Given the description of an element on the screen output the (x, y) to click on. 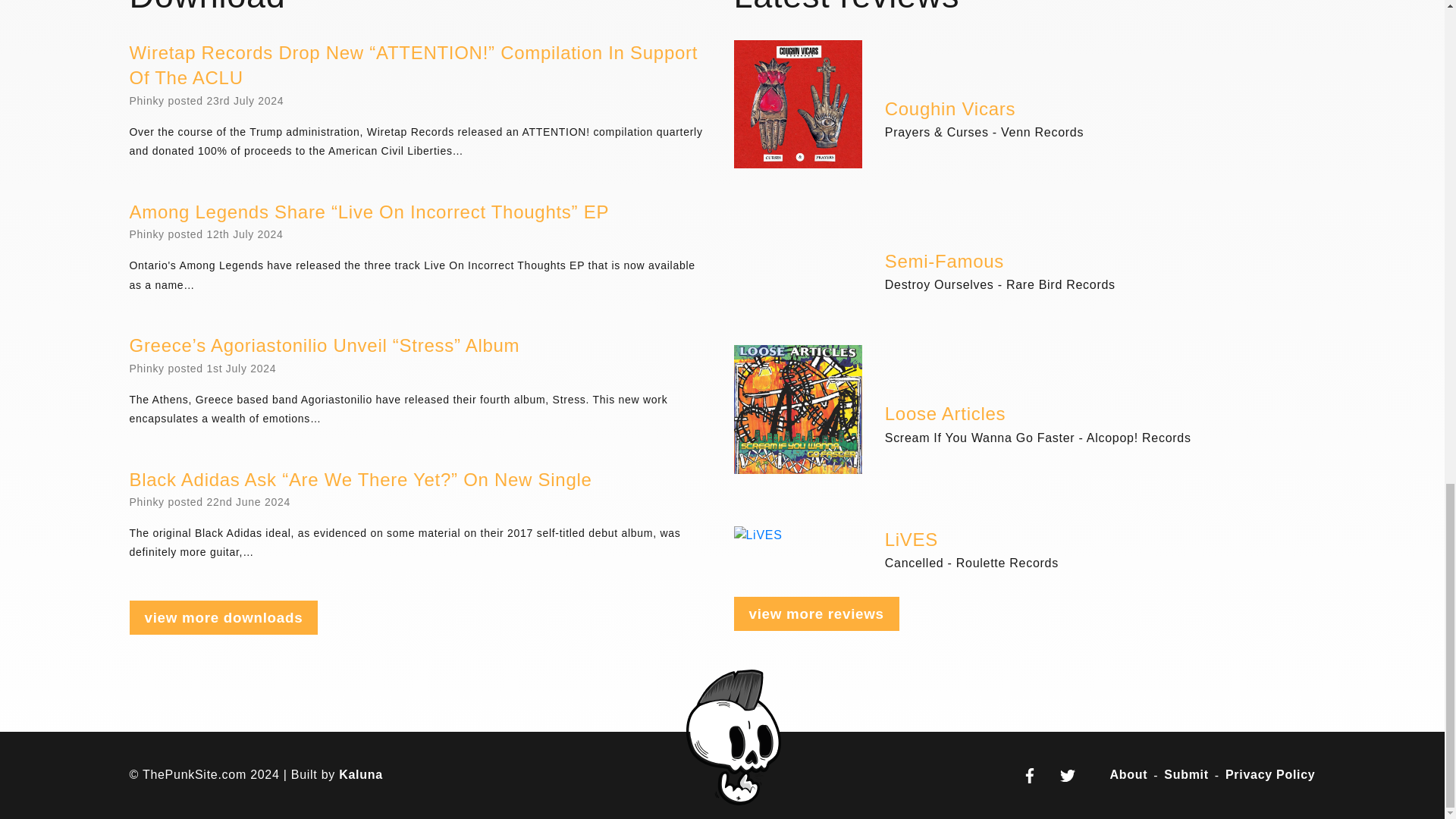
view more downloads (223, 617)
Semi-Famous (944, 261)
view more reviews (816, 613)
Loose Articles (945, 414)
LiVES (911, 540)
Coughin Vicars (949, 109)
